Given the description of an element on the screen output the (x, y) to click on. 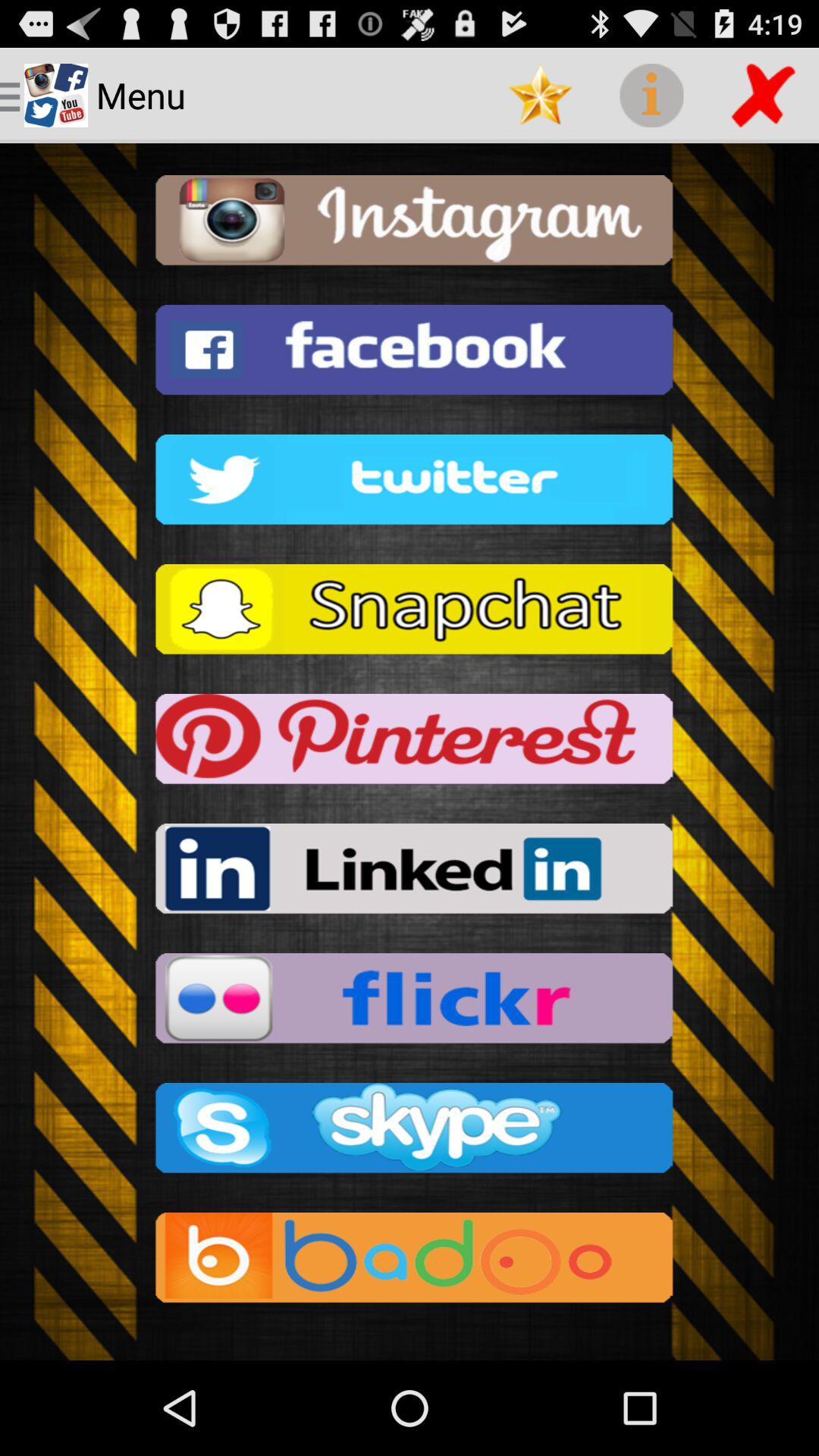
abrir funo twitter (409, 484)
